Given the description of an element on the screen output the (x, y) to click on. 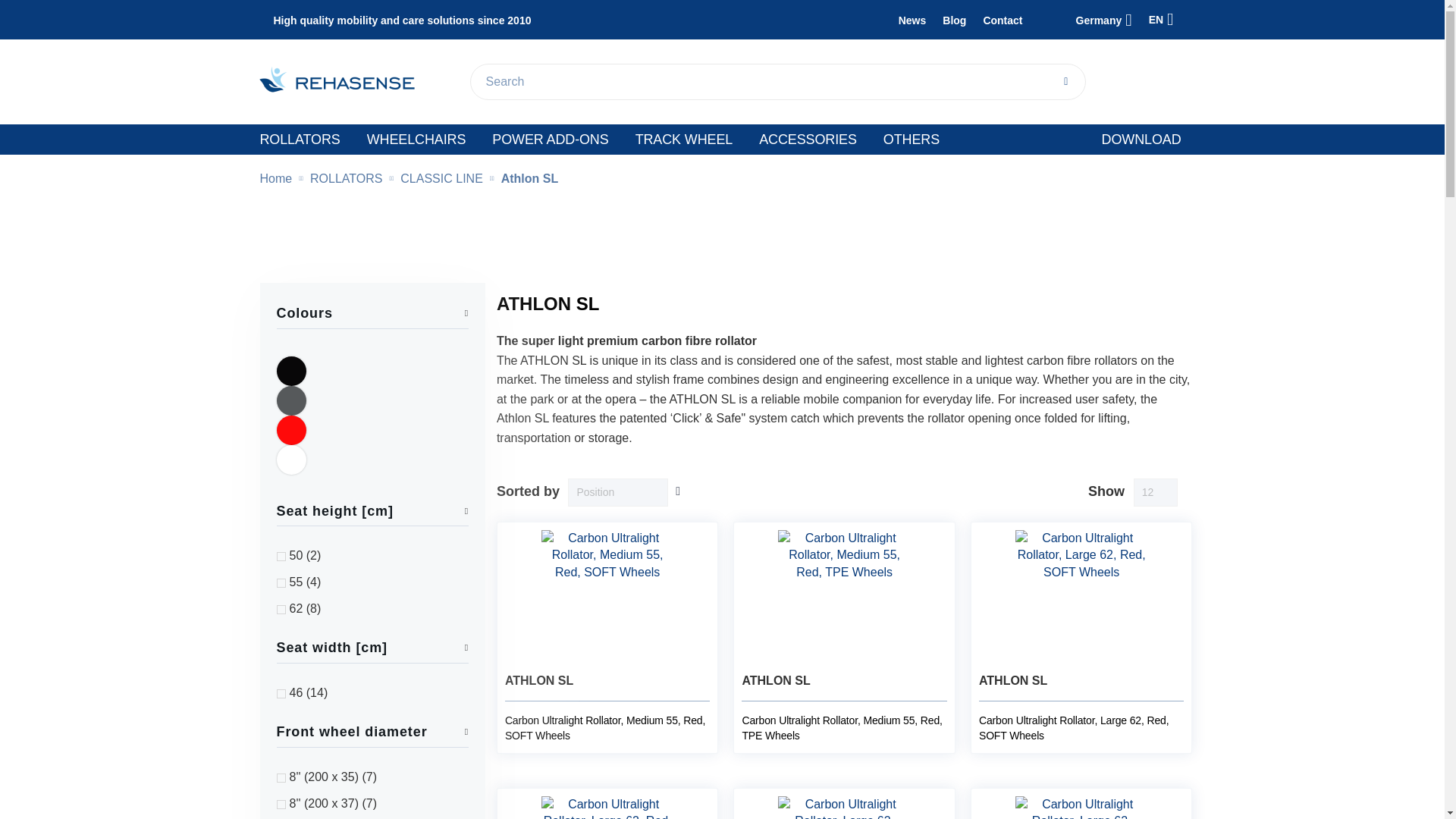
WHEELCHAIRS (415, 139)
Blog (954, 19)
ROLLATORS (299, 139)
Contact (1002, 19)
ROLLATORS (299, 139)
Wheelchairs (415, 139)
Search (1065, 81)
News (912, 19)
Search (1065, 81)
